Given the description of an element on the screen output the (x, y) to click on. 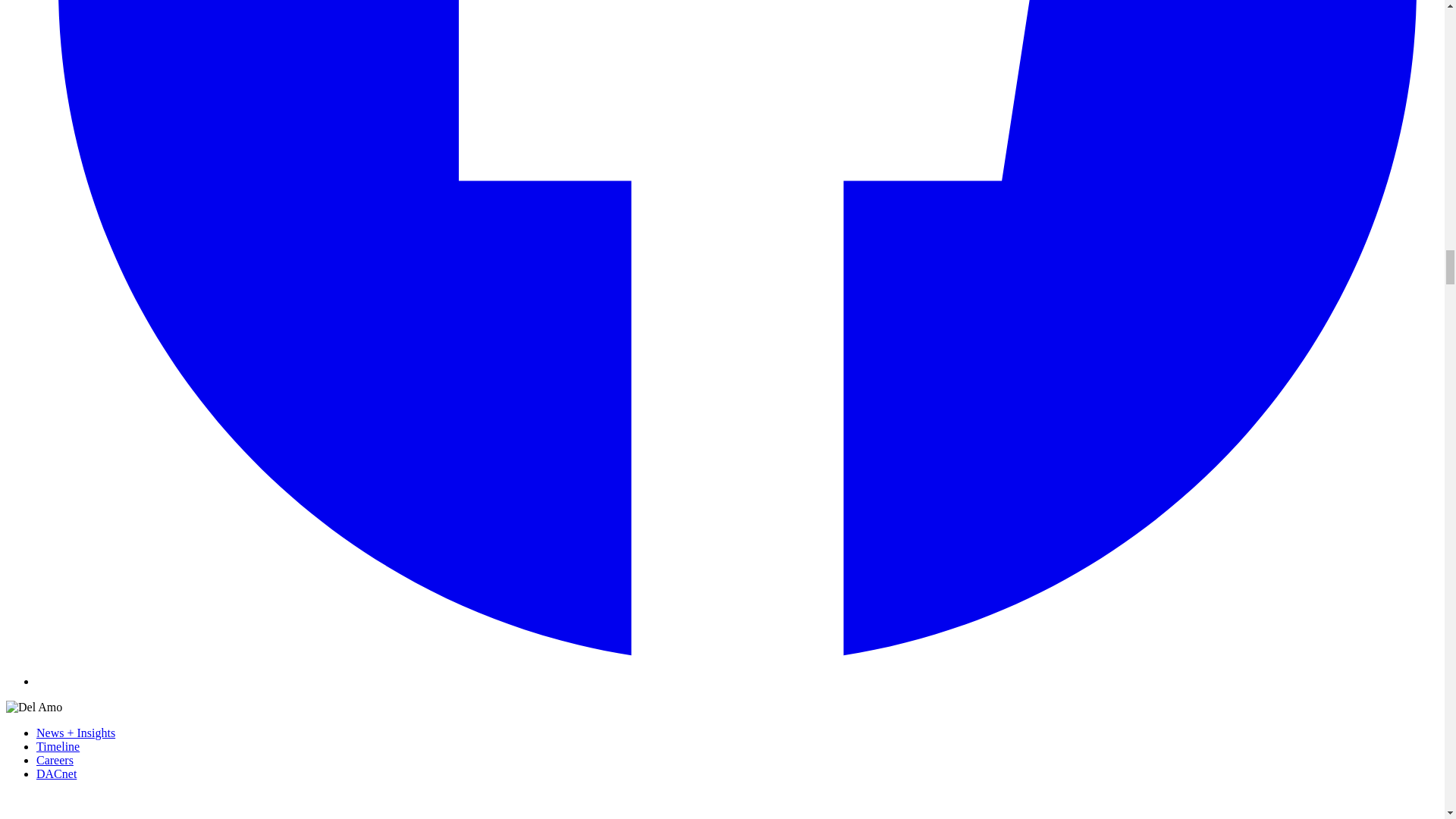
Timeline (58, 746)
Careers (55, 759)
DACnet (56, 773)
